Given the description of an element on the screen output the (x, y) to click on. 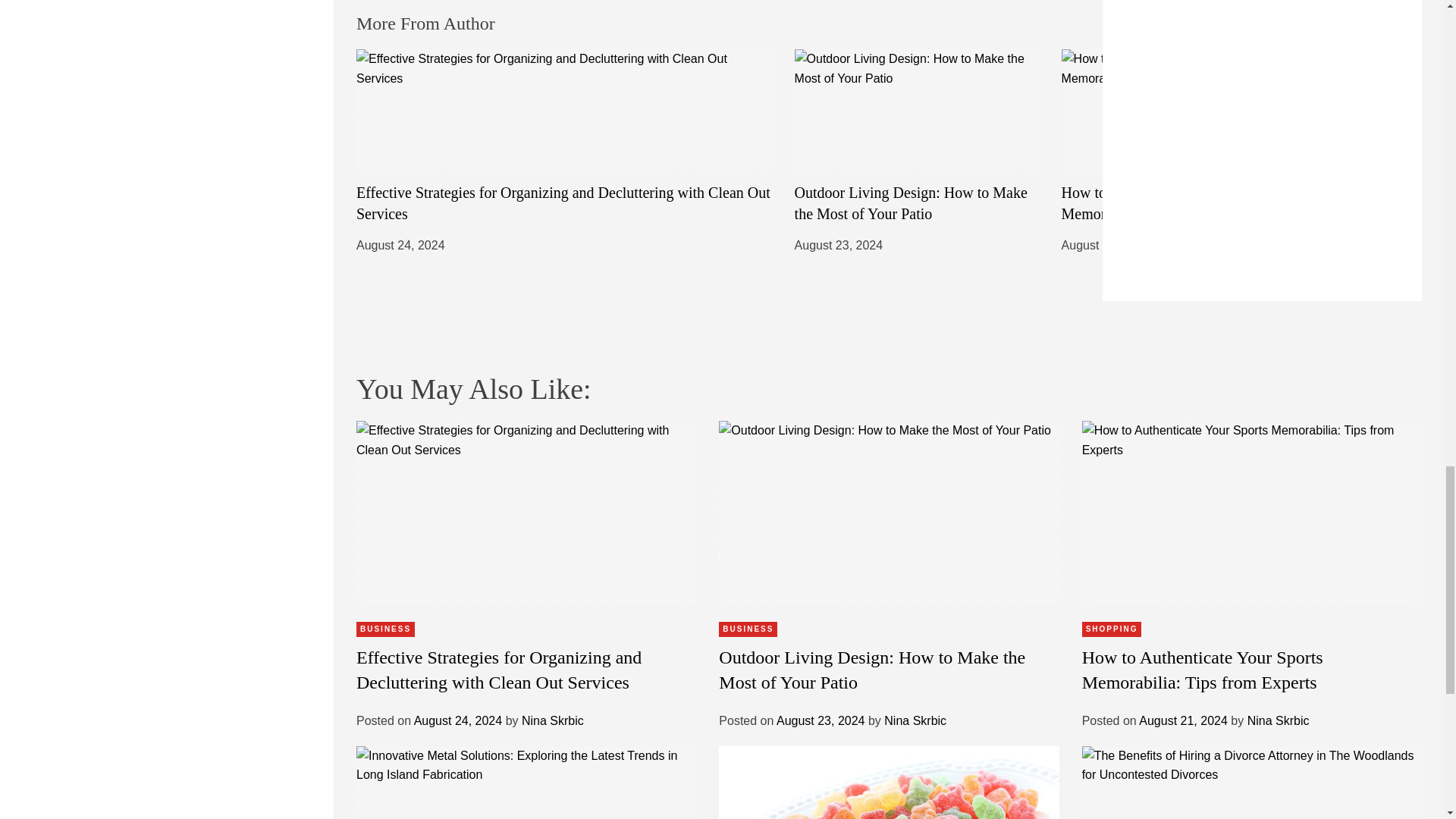
Outdoor Living Design: How to Make the Most of Your Patio (910, 202)
